Given the description of an element on the screen output the (x, y) to click on. 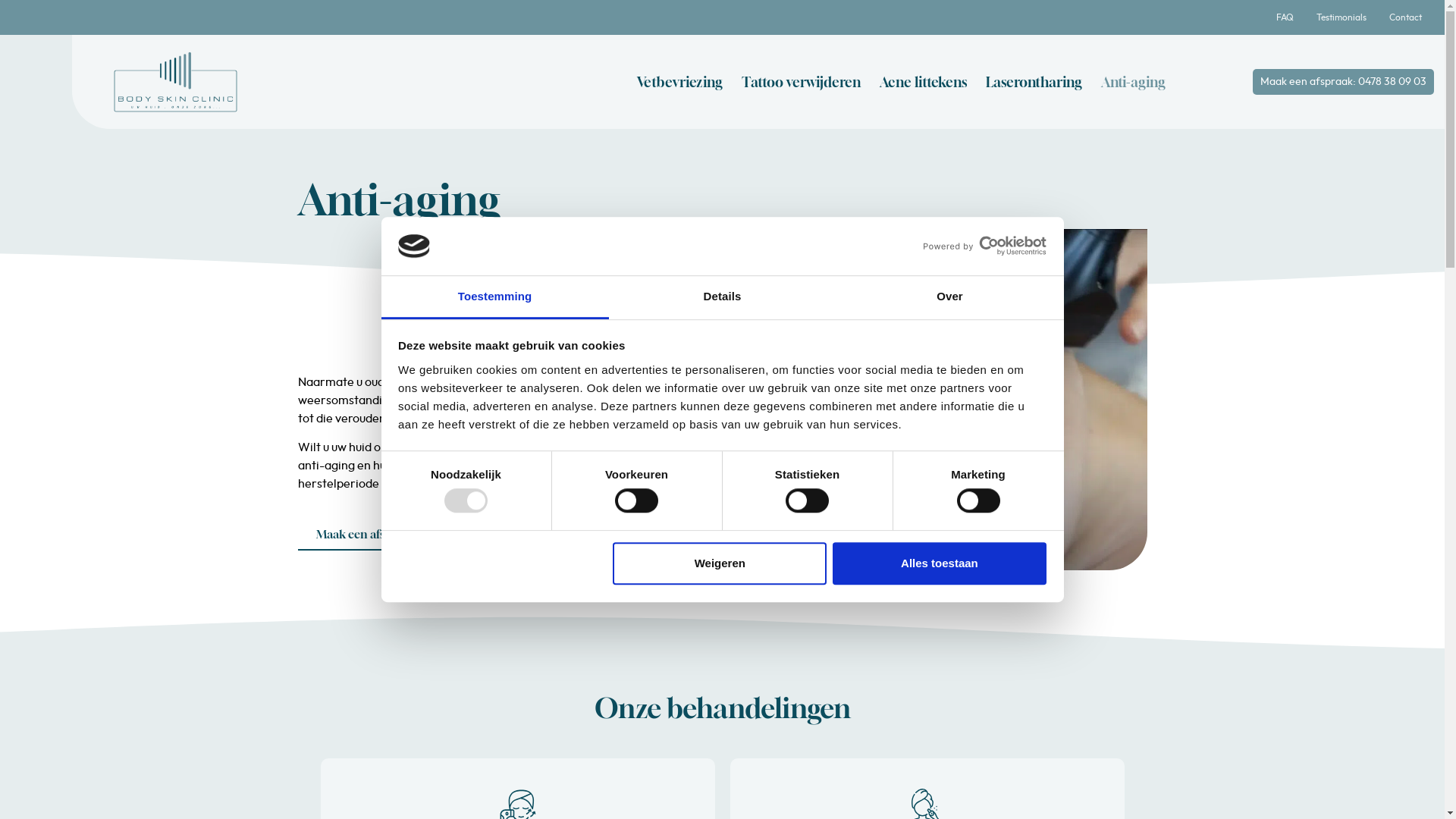
Contact Element type: text (1405, 17)
Vetbevriezing Element type: text (679, 81)
FAQ Element type: text (1284, 17)
Tattoo verwijderen Element type: text (800, 81)
Weigeren Element type: text (719, 563)
Details Element type: text (721, 297)
Maak een afspraak: 0478 38 09 03 Element type: text (1343, 81)
Alles toestaan Element type: text (939, 563)
Acne littekens Element type: text (922, 81)
Anti-aging Element type: text (1133, 81)
Testimonials Element type: text (1341, 17)
Toestemming Element type: text (494, 297)
Laserontharing Element type: text (1033, 81)
Over Element type: text (949, 297)
Maak een afspraak Element type: text (365, 534)
